Given the description of an element on the screen output the (x, y) to click on. 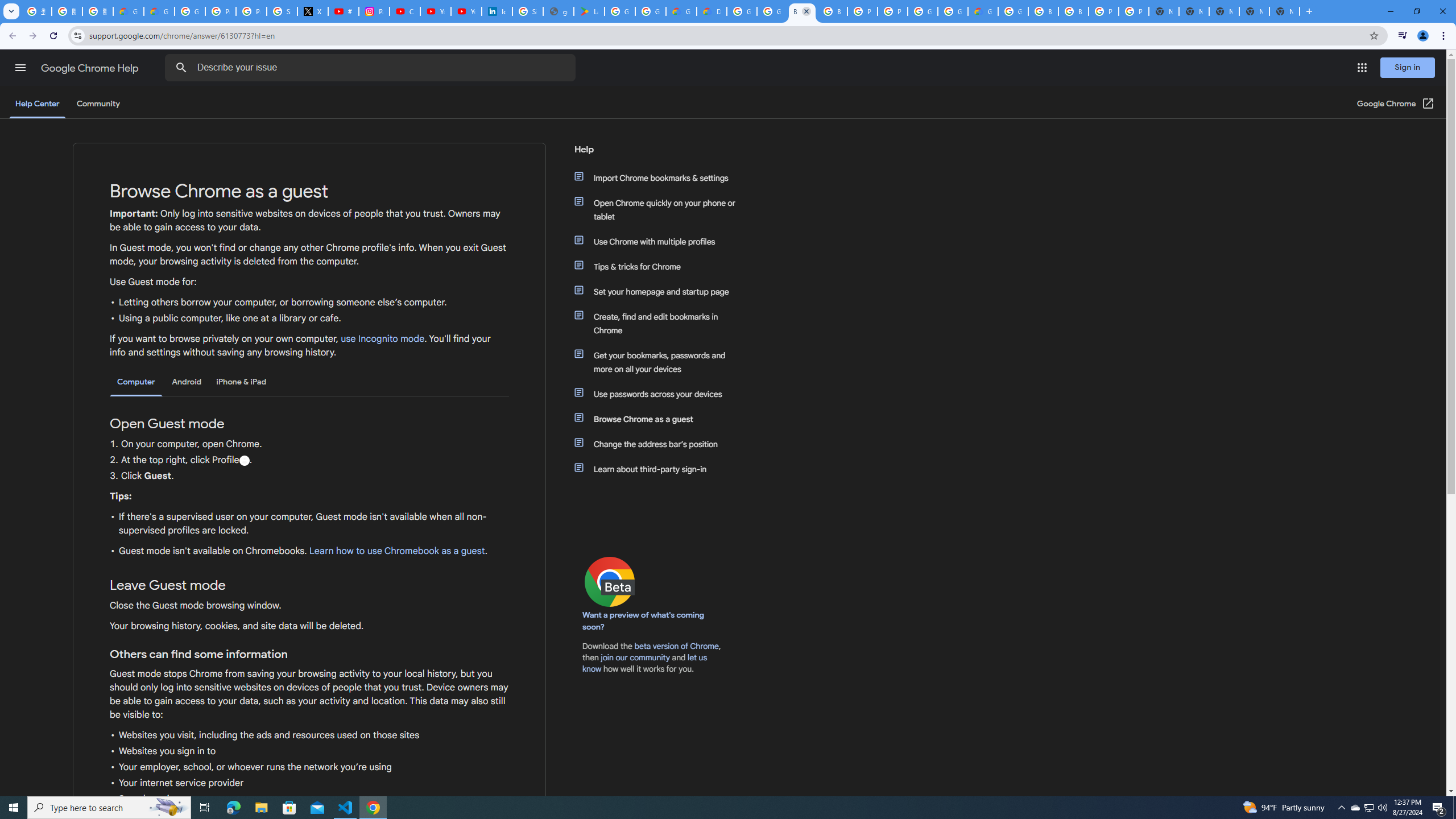
Learn about third-party sign-in (661, 469)
Import Chrome bookmarks & settings (661, 177)
Create, find and edit bookmarks in Chrome (661, 323)
Get your bookmarks, passwords and more on all your devices (661, 362)
New Tab (1283, 11)
Tips & tricks for Chrome (661, 266)
Browse Chrome as a guest - Computer - Google Chrome Help (801, 11)
Google Cloud Platform (741, 11)
Google Cloud Platform (952, 11)
beta version of Chrome (676, 646)
